Given the description of an element on the screen output the (x, y) to click on. 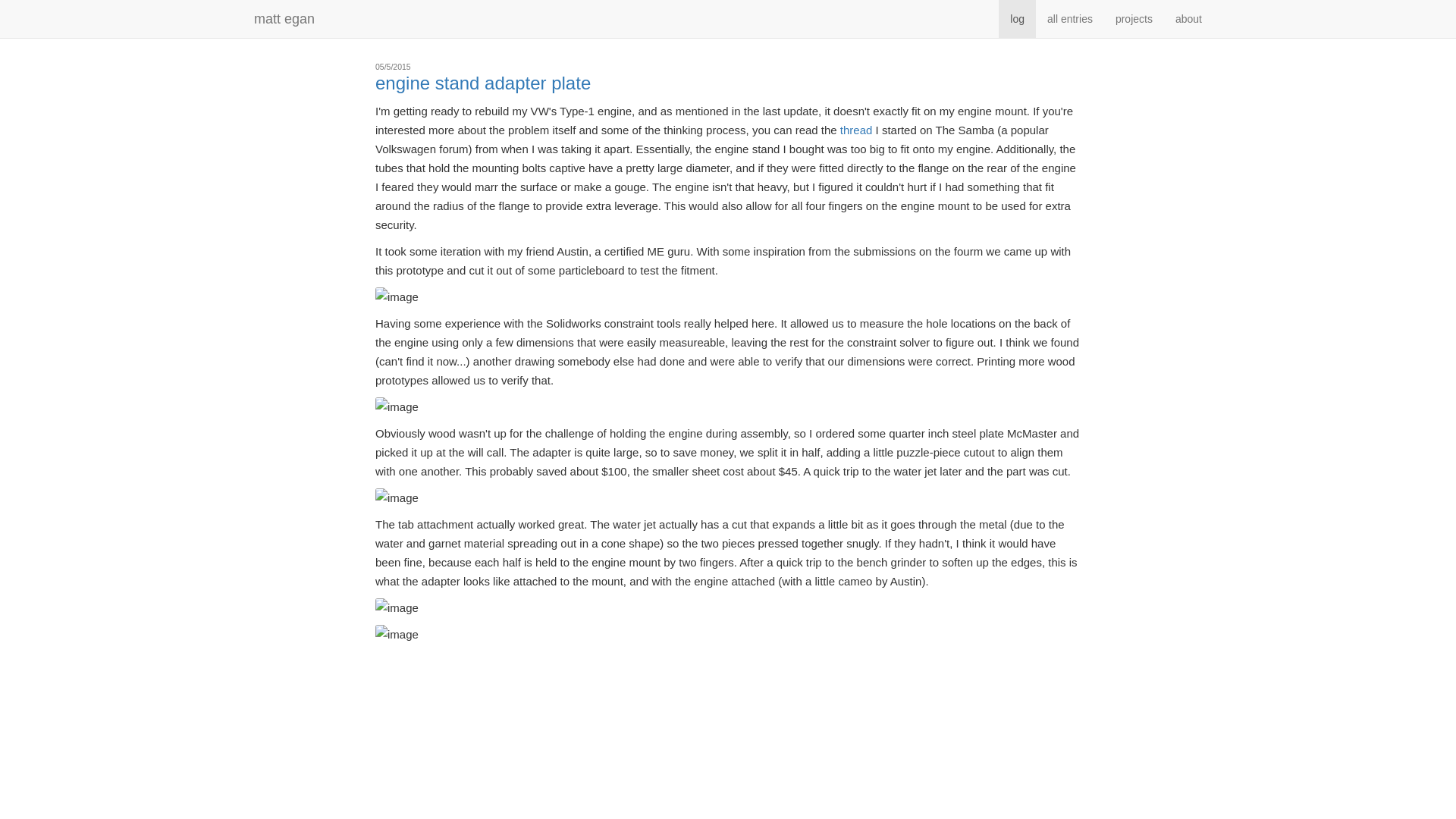
projects (1133, 18)
log (1016, 18)
about (1187, 18)
thread (856, 129)
all entries (1069, 18)
engine stand adapter plate (483, 82)
matt egan (284, 18)
